Given the description of an element on the screen output the (x, y) to click on. 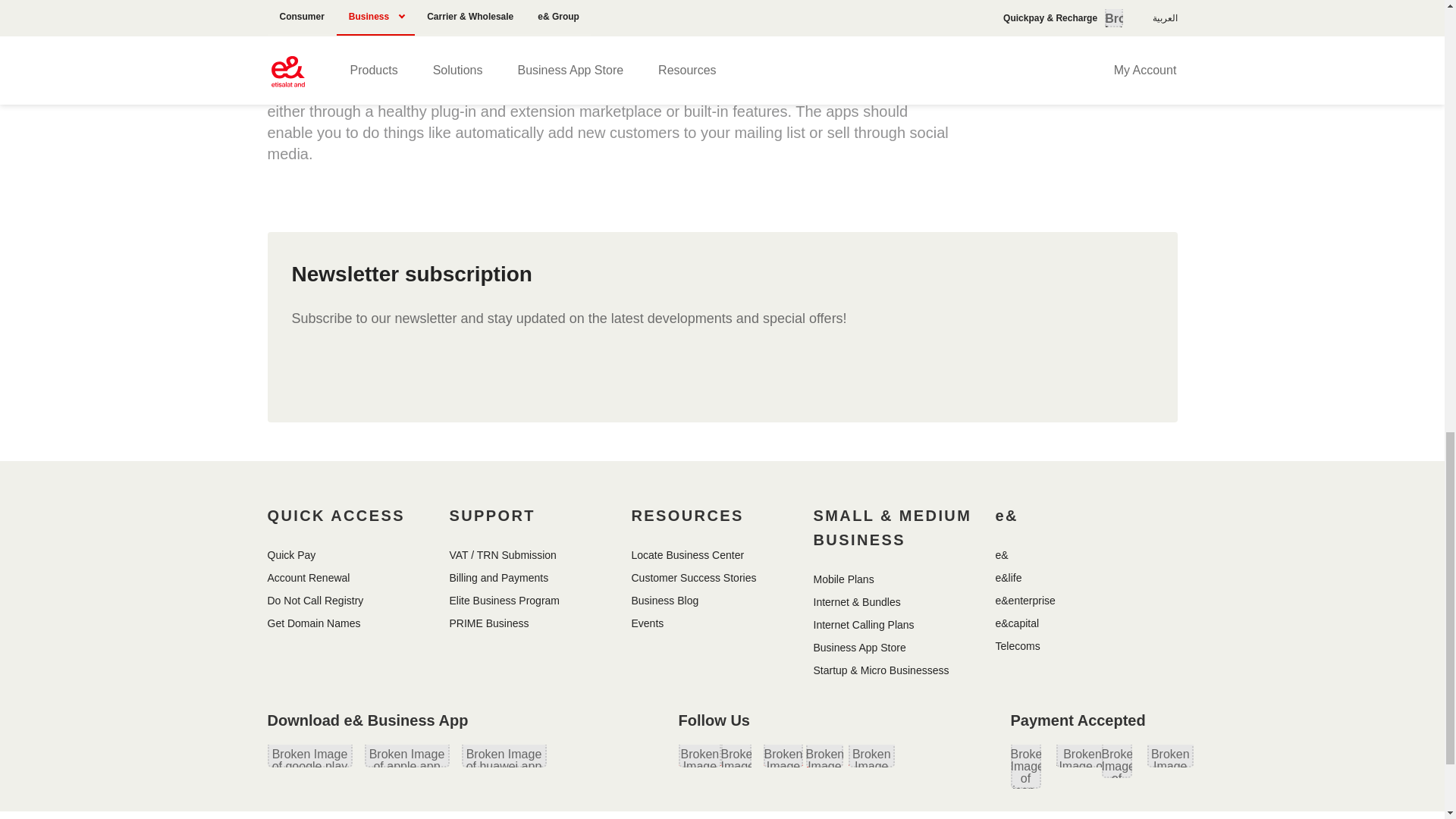
Mobile Plans (842, 579)
Internet Calling Plans (863, 624)
Locate Business Center (687, 554)
Billing and Payments (498, 577)
PRIME Business  (488, 622)
Business Blog (664, 600)
Quick Pay (290, 554)
Get Domain Names (312, 622)
Events (646, 622)
Account Renewal (307, 577)
